Given the description of an element on the screen output the (x, y) to click on. 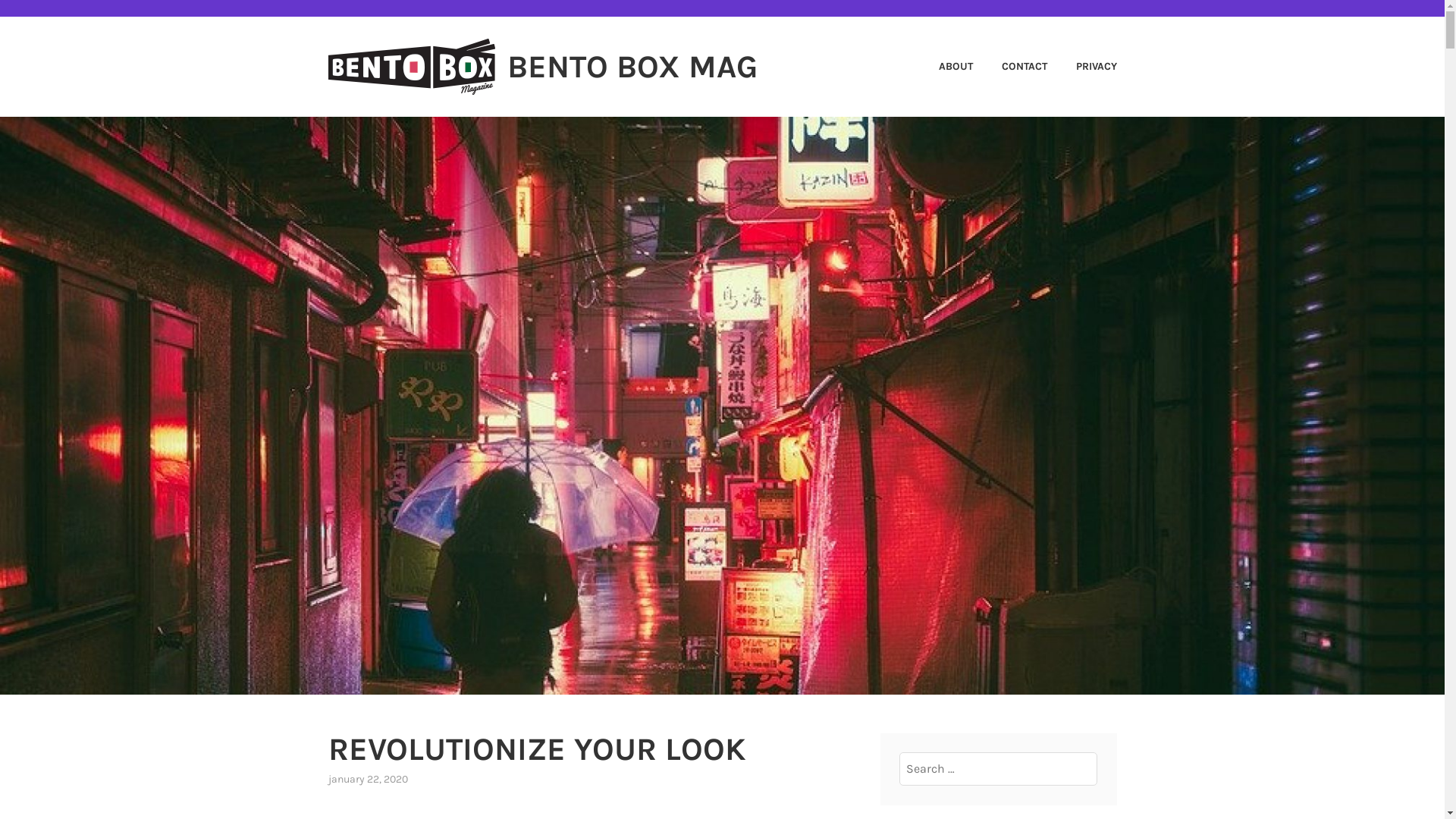
Search Element type: text (45, 17)
PRIVACY Element type: text (1083, 66)
ABOUT Element type: text (943, 66)
BENTO BOX MAG Element type: text (632, 66)
REVOLUTIONIZE YOUR LOOK Element type: text (535, 749)
CONTACT Element type: text (1011, 66)
january 22, 2020 Element type: text (367, 778)
